Given the description of an element on the screen output the (x, y) to click on. 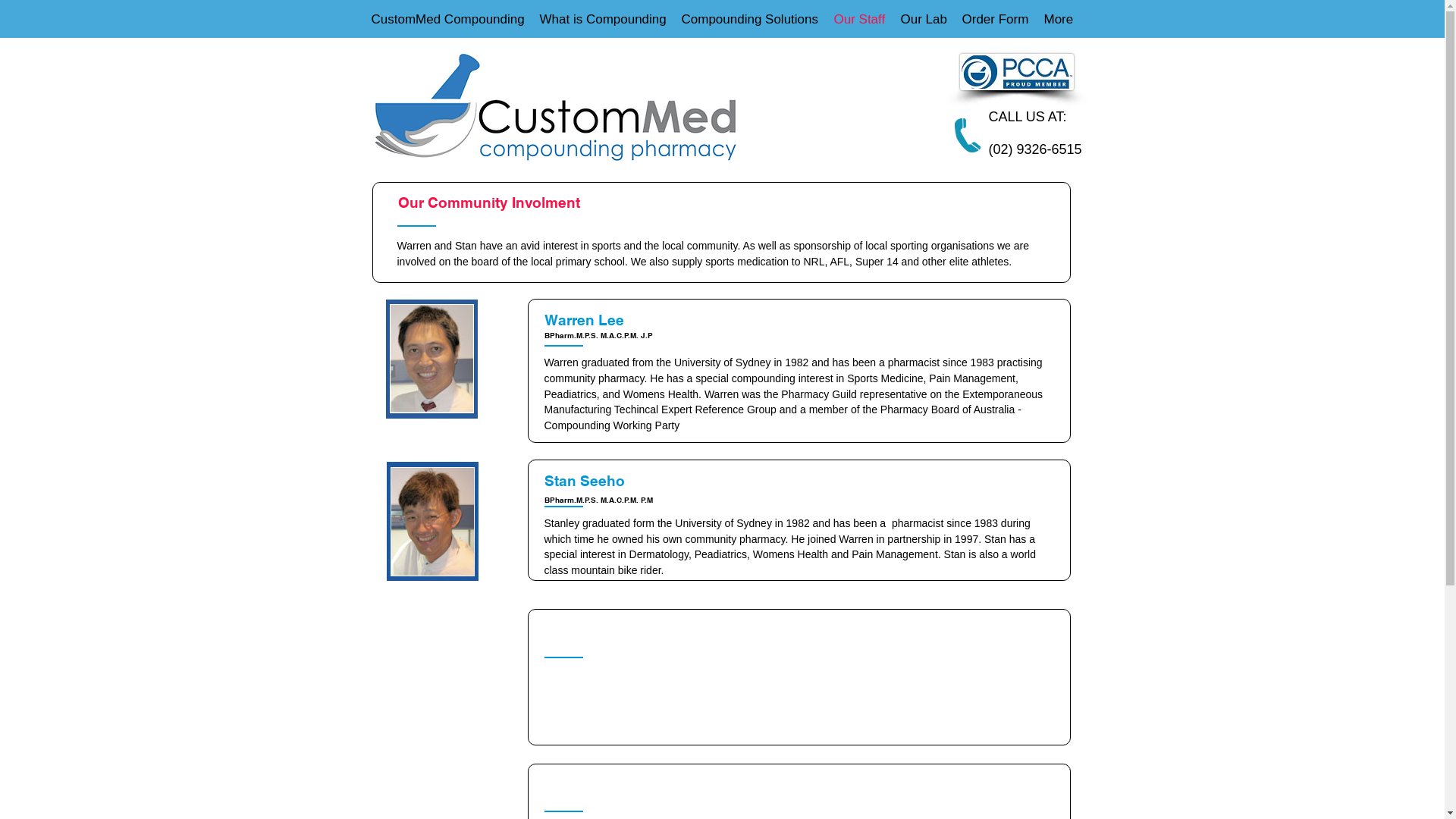
Logo - Final.png Element type: hover (559, 108)
CustomMed Compounding Element type: text (448, 19)
Order Form Element type: text (994, 19)
Compounding Solutions Element type: text (749, 19)
PCCA.jpg Element type: hover (1016, 71)
Our Staff Element type: text (859, 19)
What is Compounding Element type: text (603, 19)
Our Lab Element type: text (923, 19)
